Given the description of an element on the screen output the (x, y) to click on. 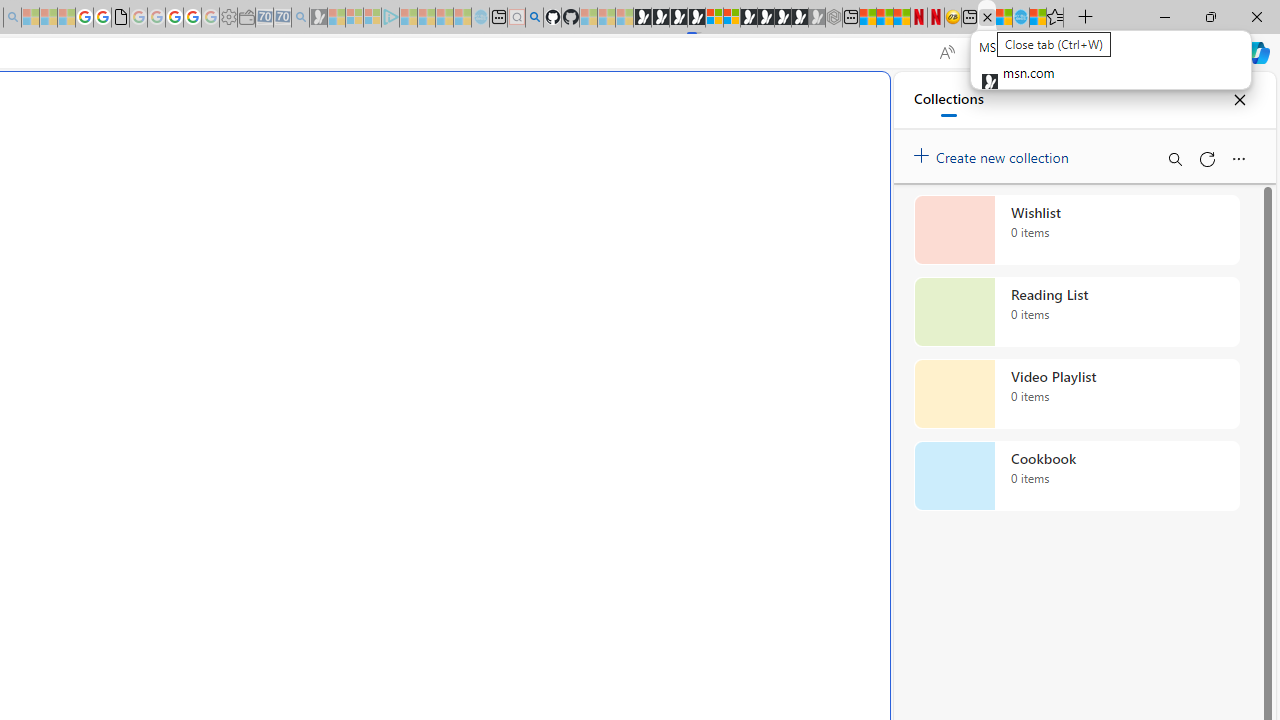
Create new collection (994, 153)
Wishlist collection, 0 items (1076, 229)
More options menu (1238, 158)
Frequently visited (418, 265)
